Given the description of an element on the screen output the (x, y) to click on. 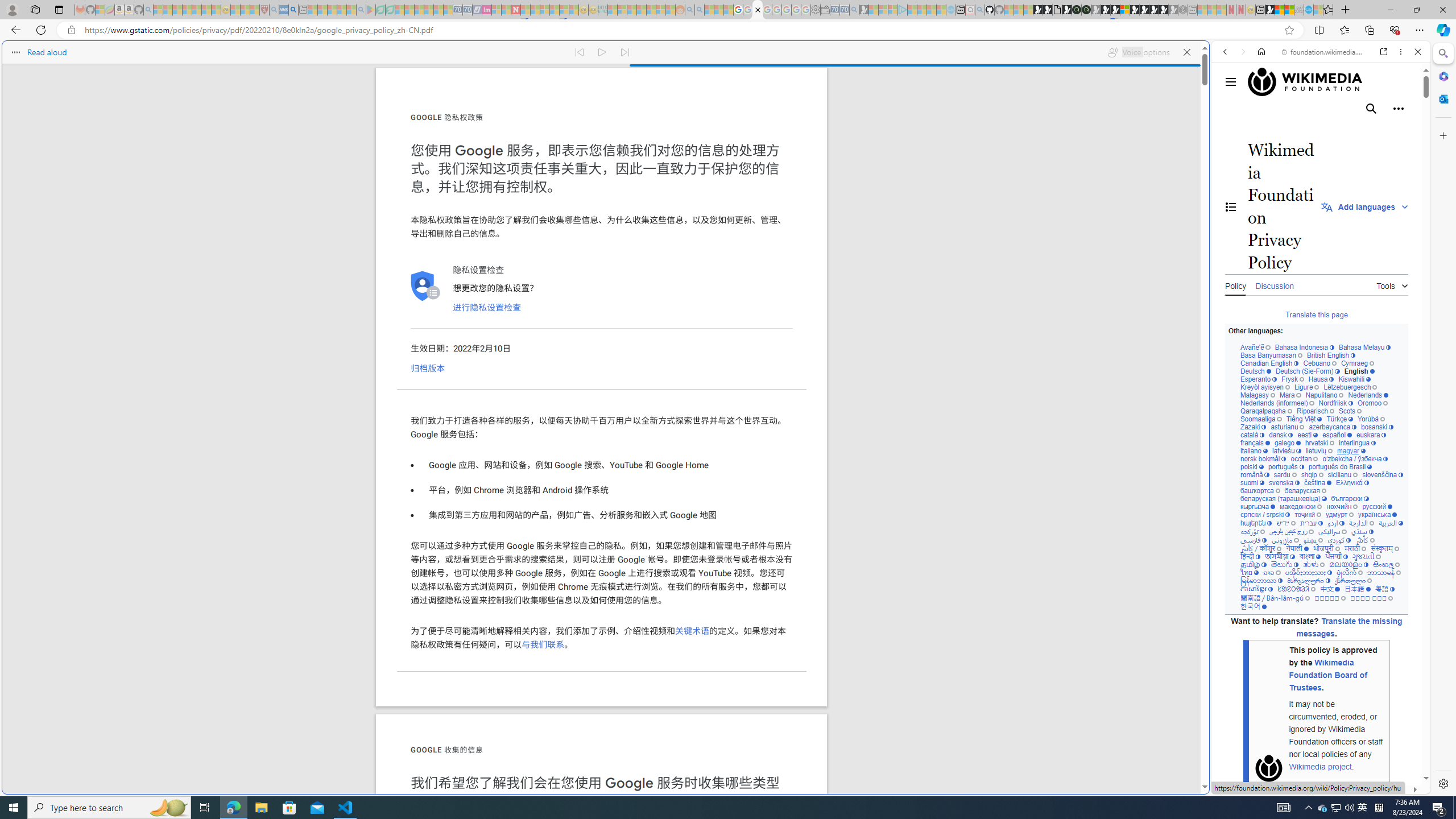
Napulitano (1323, 395)
Play Cave FRVR in your browser | Games from Microsoft Start (922, 242)
Hausa (1320, 379)
Bahasa Indonesia (1303, 347)
